Given the description of an element on the screen output the (x, y) to click on. 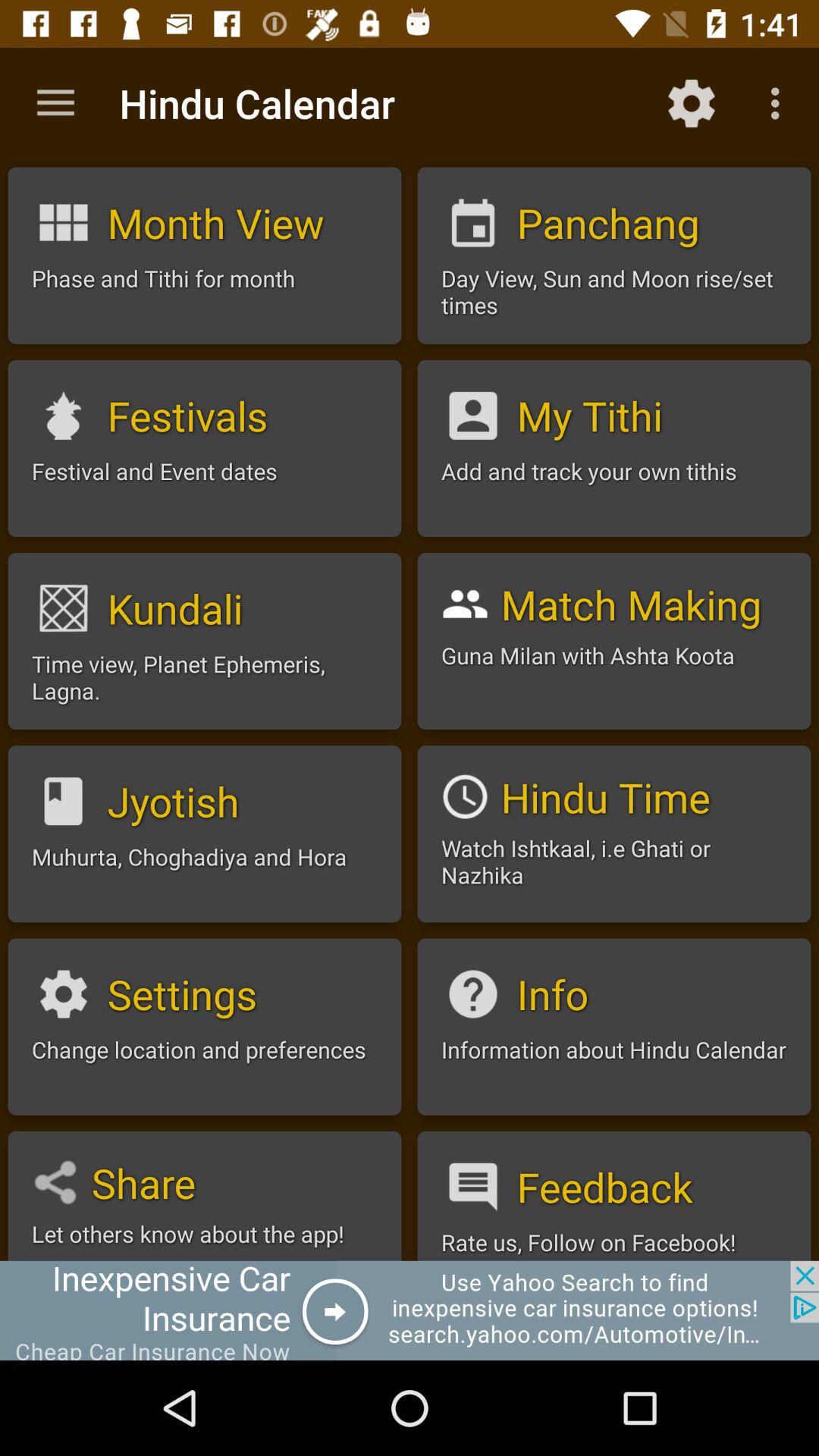
banner advertisement (409, 1310)
